Given the description of an element on the screen output the (x, y) to click on. 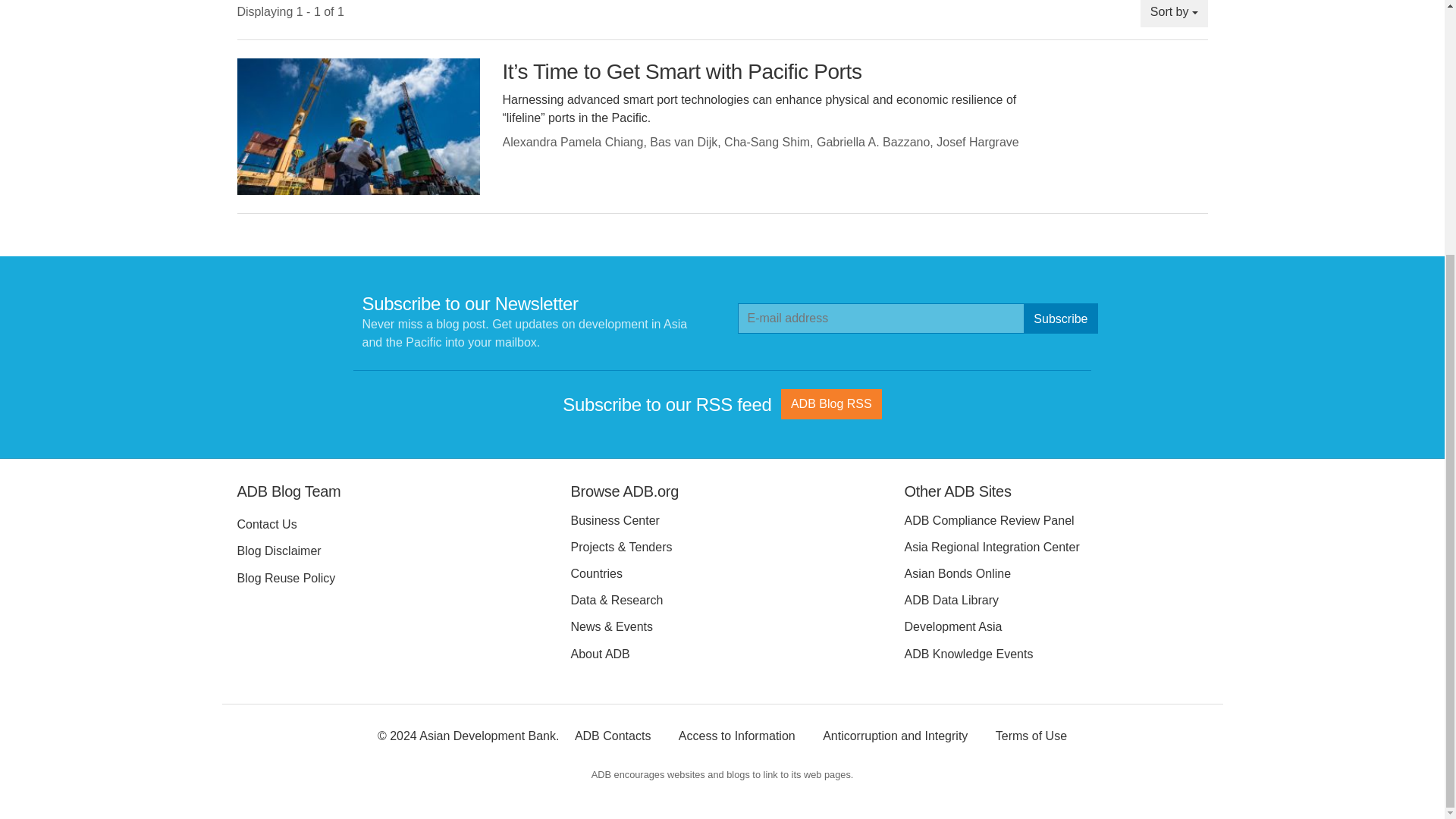
Subscribe (1060, 318)
